Given the description of an element on the screen output the (x, y) to click on. 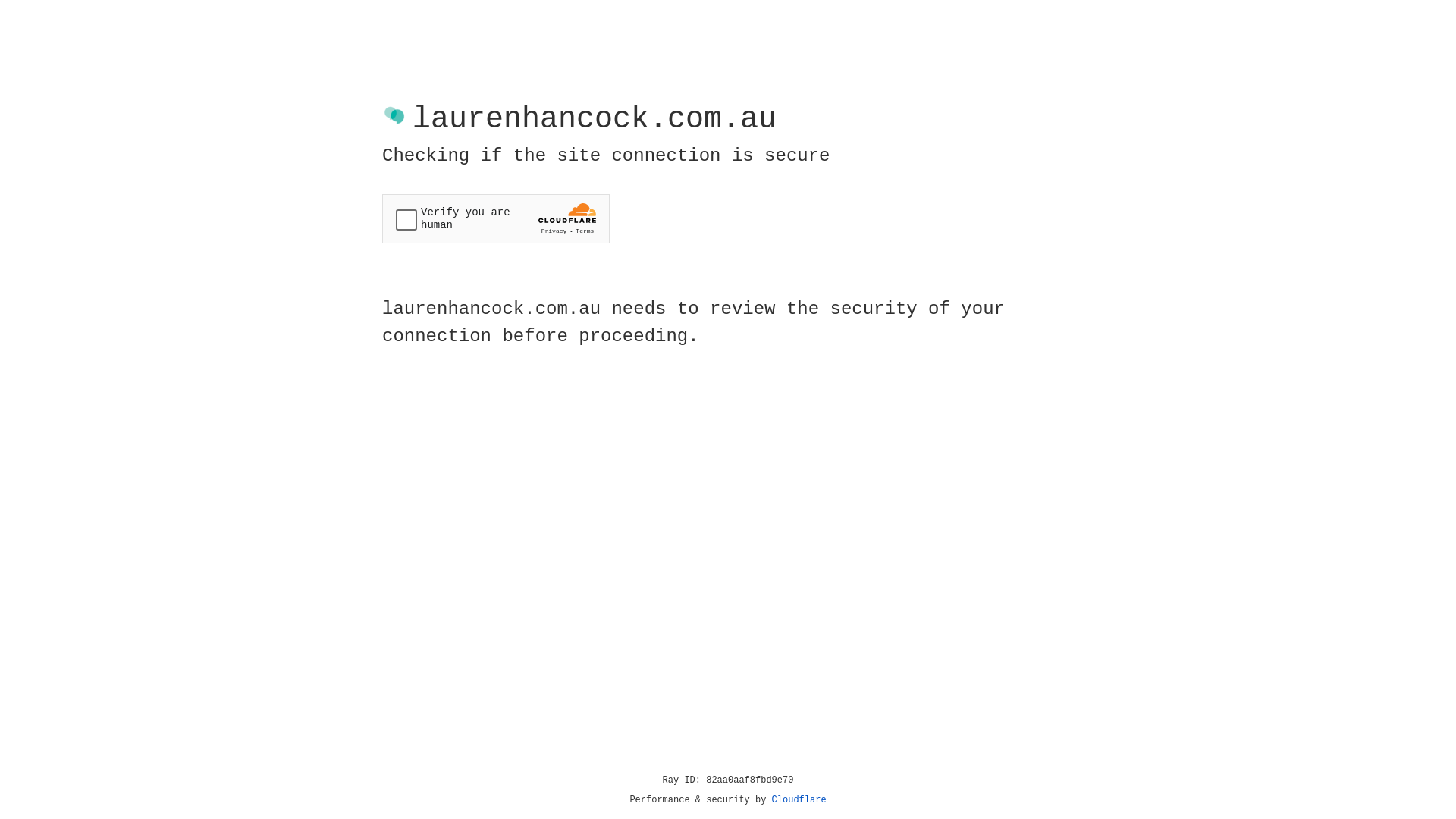
Cloudflare Element type: text (798, 799)
Widget containing a Cloudflare security challenge Element type: hover (495, 218)
